Given the description of an element on the screen output the (x, y) to click on. 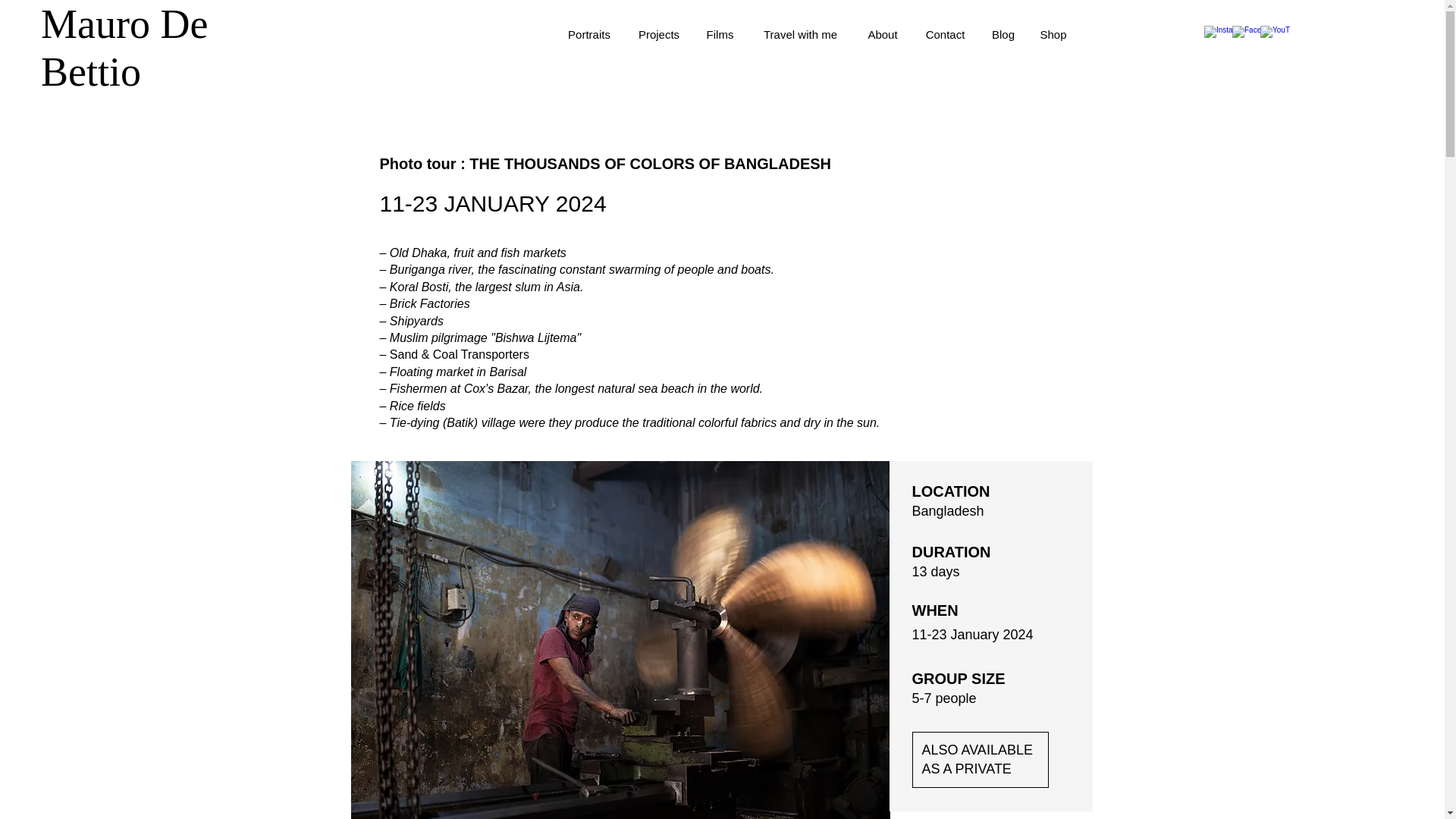
Shop (1052, 34)
Projects (658, 34)
Contact (944, 34)
Films (719, 34)
Travel with me (799, 34)
About (882, 34)
Portraits (588, 34)
Mauro De Bettio (124, 48)
Blog (1002, 34)
